Given the description of an element on the screen output the (x, y) to click on. 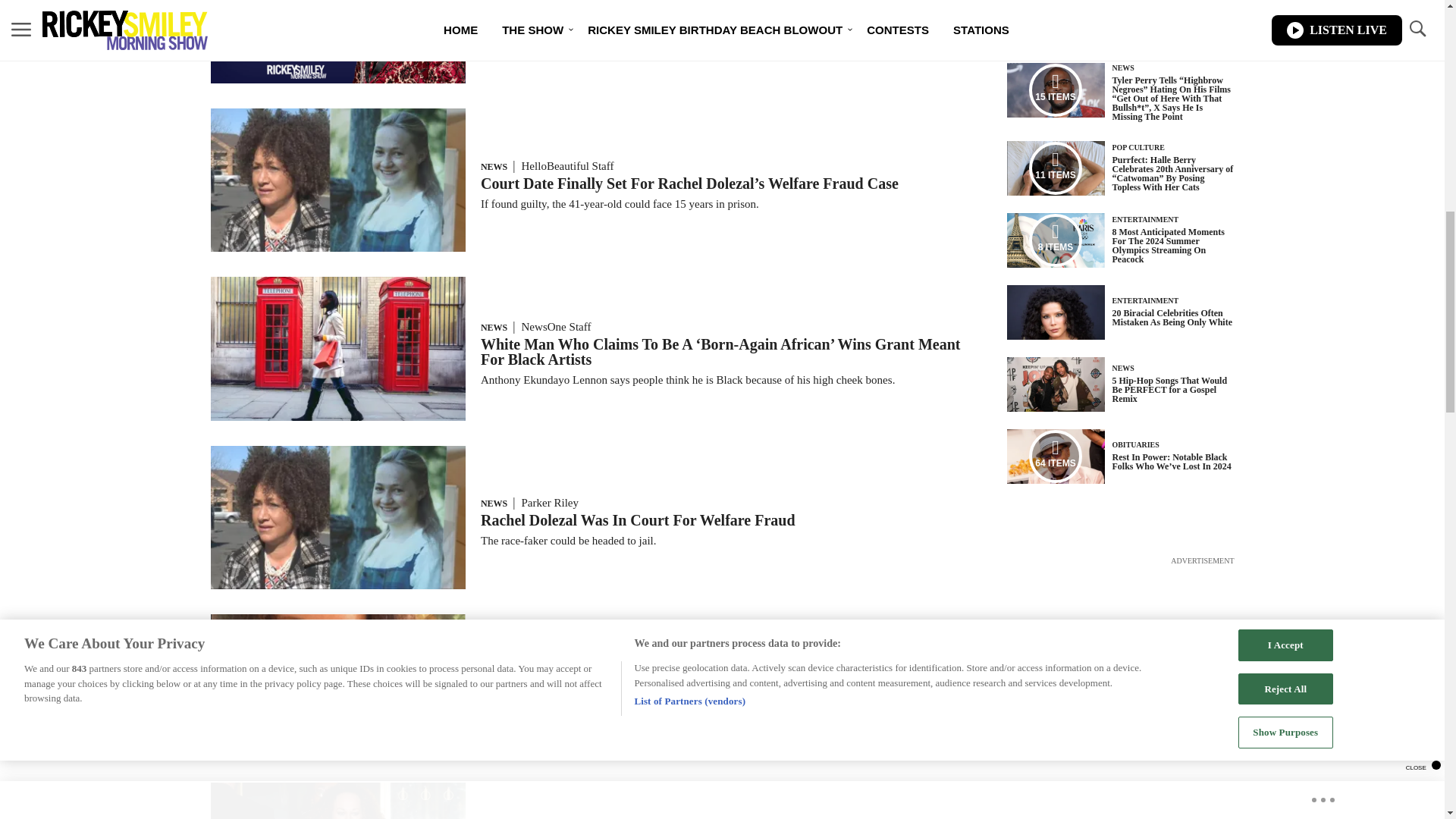
NEWS (493, 651)
Media Playlist (1055, 239)
NEWS (493, 502)
NEWS (493, 327)
Rachel Dolezal Facing Charges Of Welfare Fraud (641, 668)
Media Playlist (1055, 456)
Media Playlist (1055, 90)
3rd party ad content (1120, 663)
Rachel Dolezal Was In Court For Welfare Fraud (637, 519)
Media Playlist (1055, 167)
NEWS (493, 166)
Parker Riley (550, 502)
NewsOne Staff (556, 326)
